Given the description of an element on the screen output the (x, y) to click on. 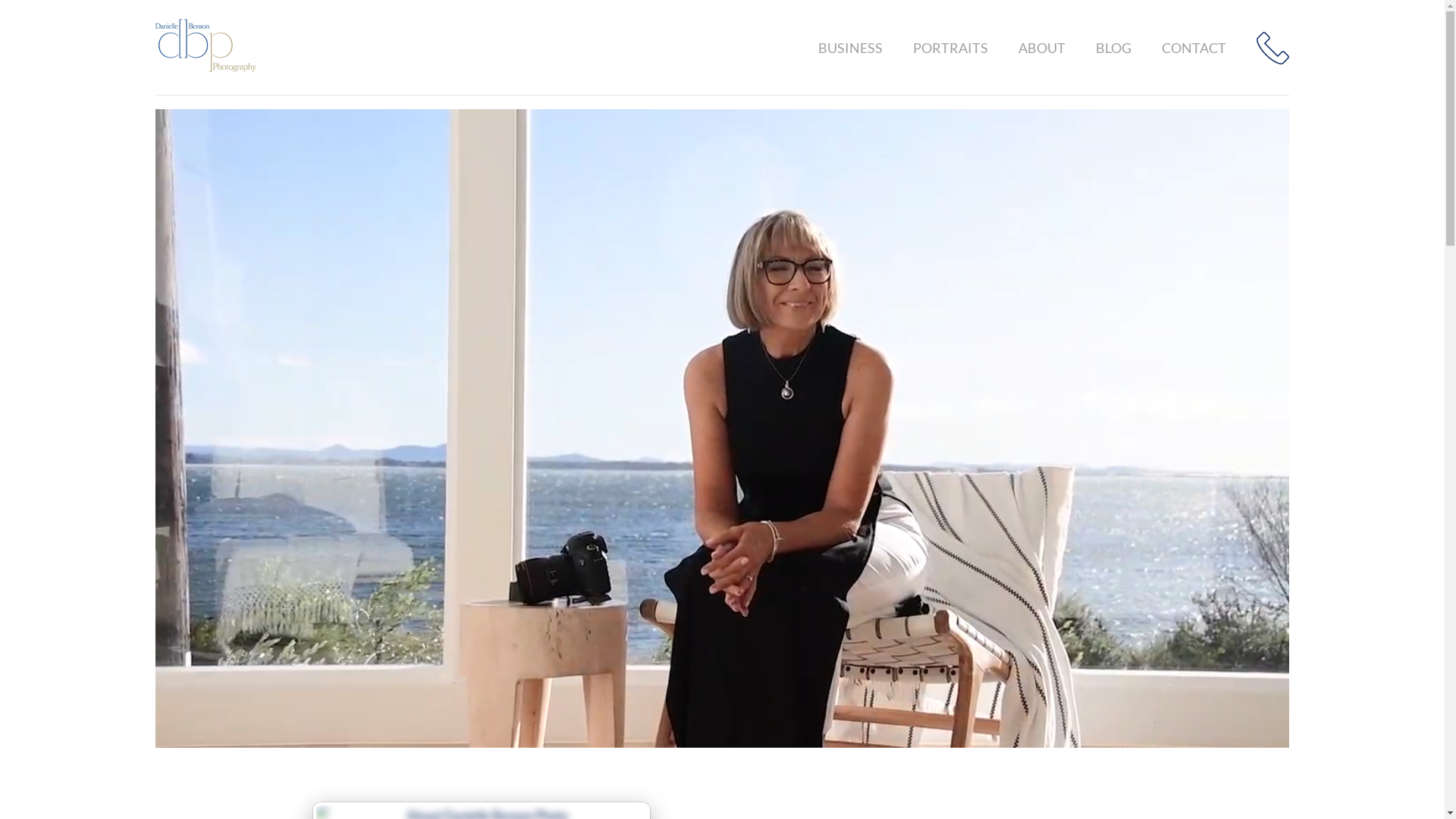
BUSINESS Element type: text (865, 46)
CONTACT Element type: text (1208, 46)
ABOUT Element type: text (1056, 46)
PORTRAITS Element type: text (965, 46)
Phone Element type: text (1272, 47)
BLOG Element type: text (1128, 46)
